Given the description of an element on the screen output the (x, y) to click on. 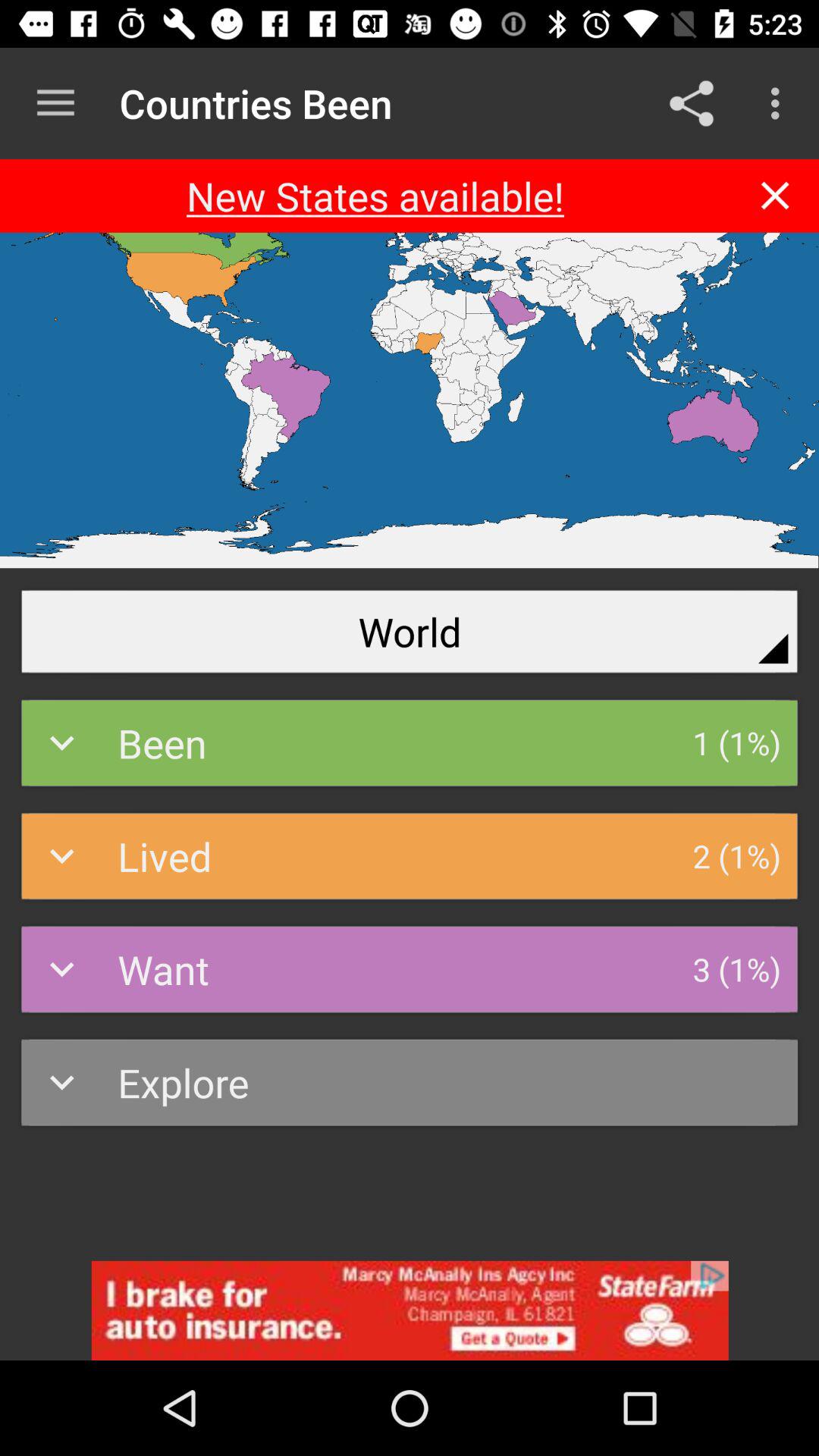
close (775, 195)
